Given the description of an element on the screen output the (x, y) to click on. 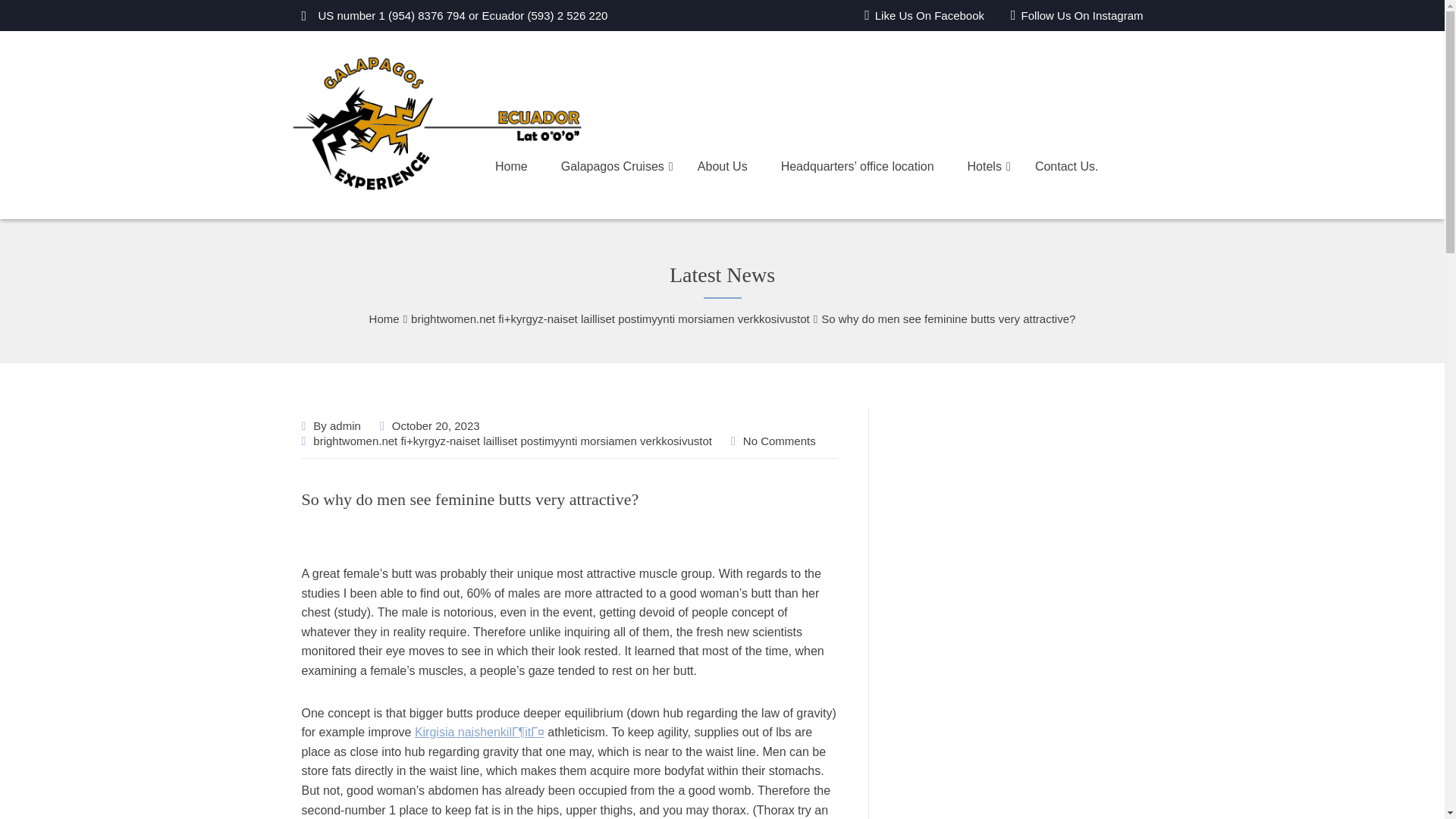
Galapagos Cruises (628, 166)
Home (527, 166)
admin (345, 425)
Follow Us On Instagram (1076, 15)
Home (383, 318)
Posts by admin (345, 425)
About Us (738, 166)
Hotels (1001, 166)
So why do men see feminine butts very attractive? (470, 498)
So why do men see feminine butts very attractive? (470, 498)
Like Us On Facebook (924, 15)
Contact Us. (1083, 166)
No Comments (778, 440)
